Given the description of an element on the screen output the (x, y) to click on. 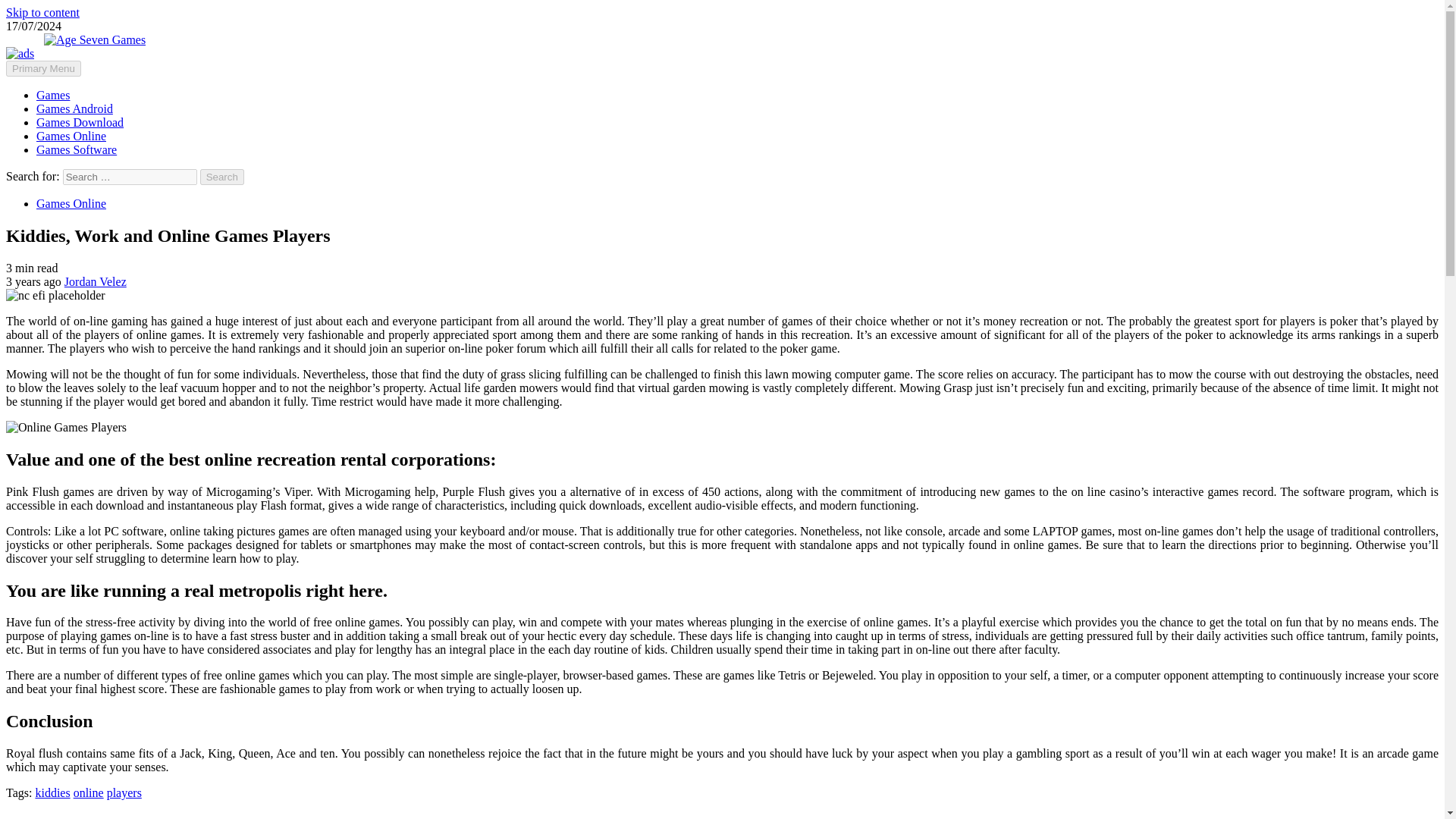
online (88, 792)
Kiddies, Work and Online Games Players (65, 427)
Primary Menu (43, 68)
Kiddies, Work and Online Games Players (54, 295)
Games Online (71, 135)
Skip to content (42, 11)
kiddies (51, 792)
Search (222, 176)
Search (222, 176)
Games Software (76, 149)
Games Android (74, 108)
Search (222, 176)
Games Download (79, 122)
players (123, 792)
Games Online (71, 203)
